Given the description of an element on the screen output the (x, y) to click on. 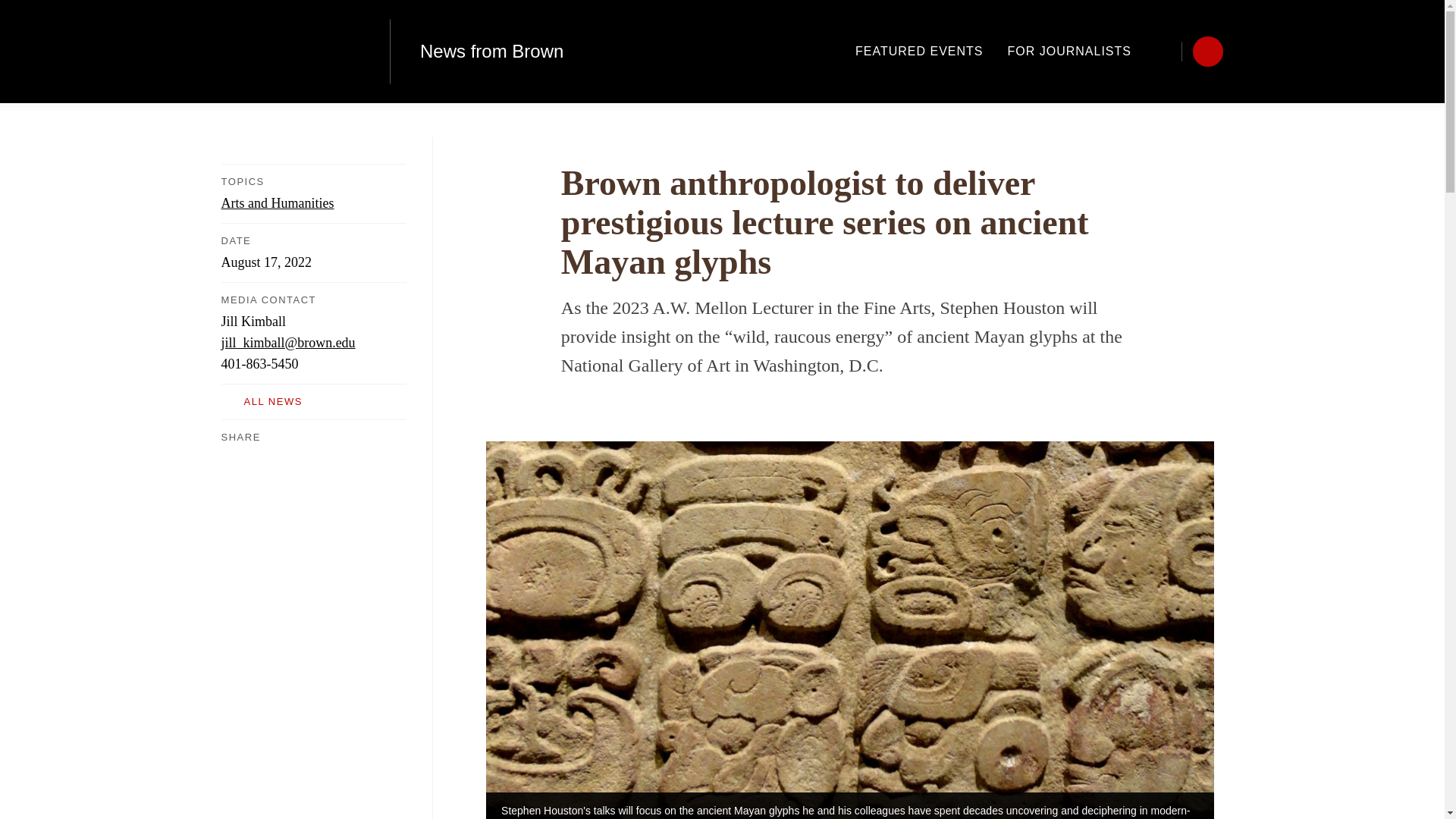
Brown University (290, 51)
Menu (1207, 51)
401-863-5450 (259, 363)
Search (1165, 51)
ALL NEWS (313, 401)
News from Brown (491, 50)
Linkedin (290, 456)
FEATURED EVENTS (919, 51)
Arts and Humanities (277, 202)
Facebook (229, 456)
